Given the description of an element on the screen output the (x, y) to click on. 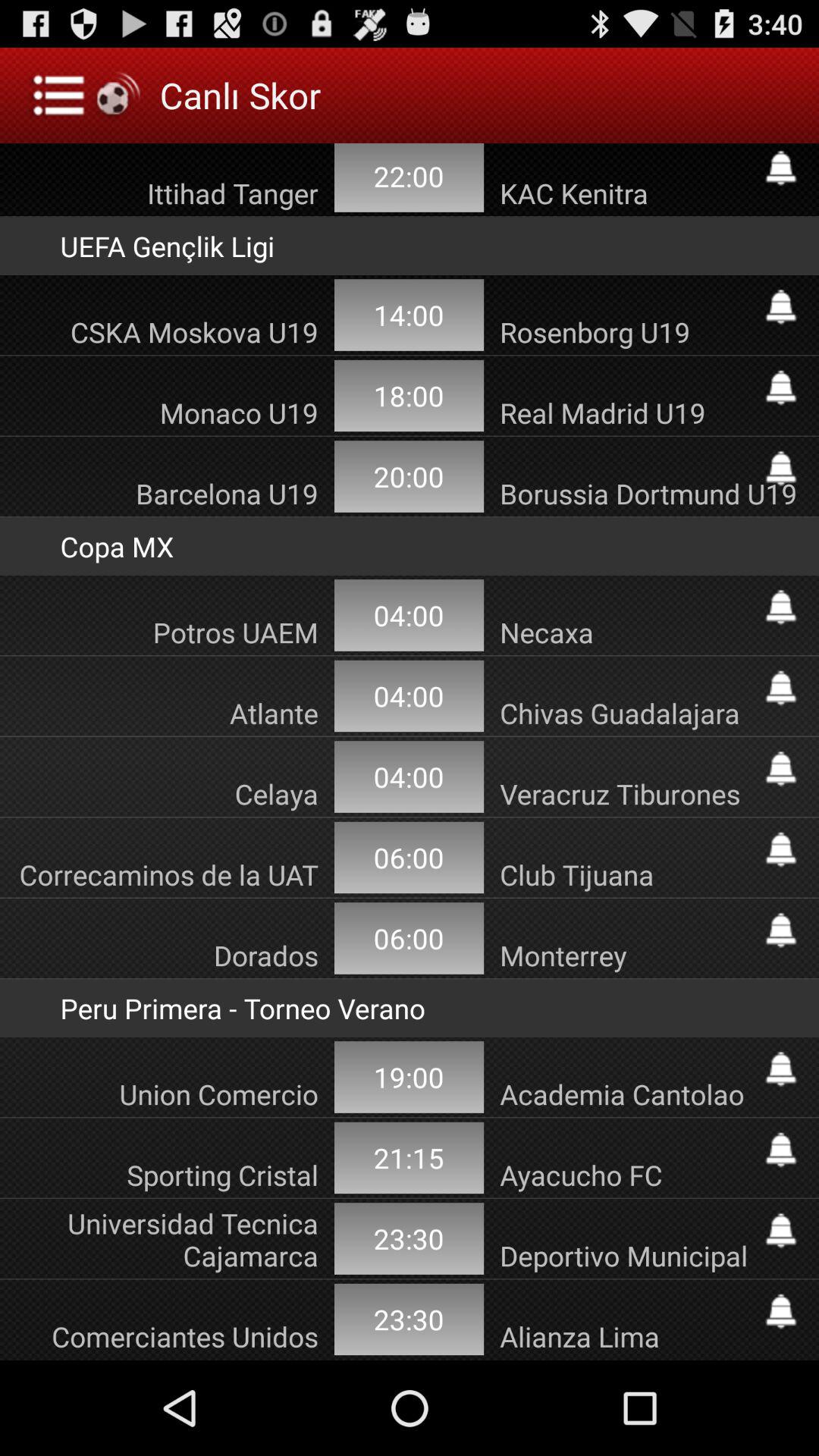
activate alert (780, 607)
